Given the description of an element on the screen output the (x, y) to click on. 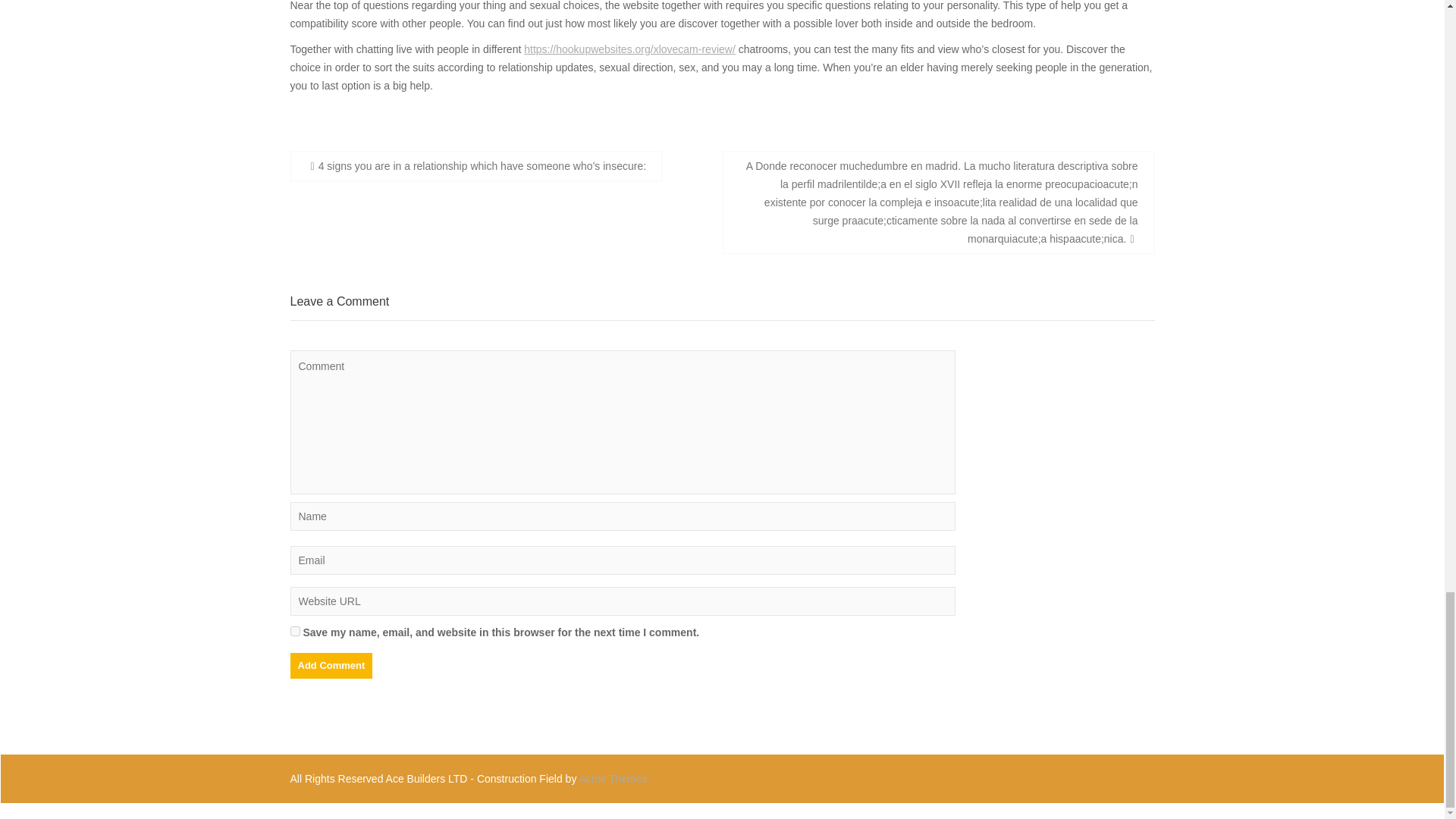
Add Comment (330, 665)
yes (294, 631)
Acme Themes (613, 778)
Add Comment (330, 665)
